Given the description of an element on the screen output the (x, y) to click on. 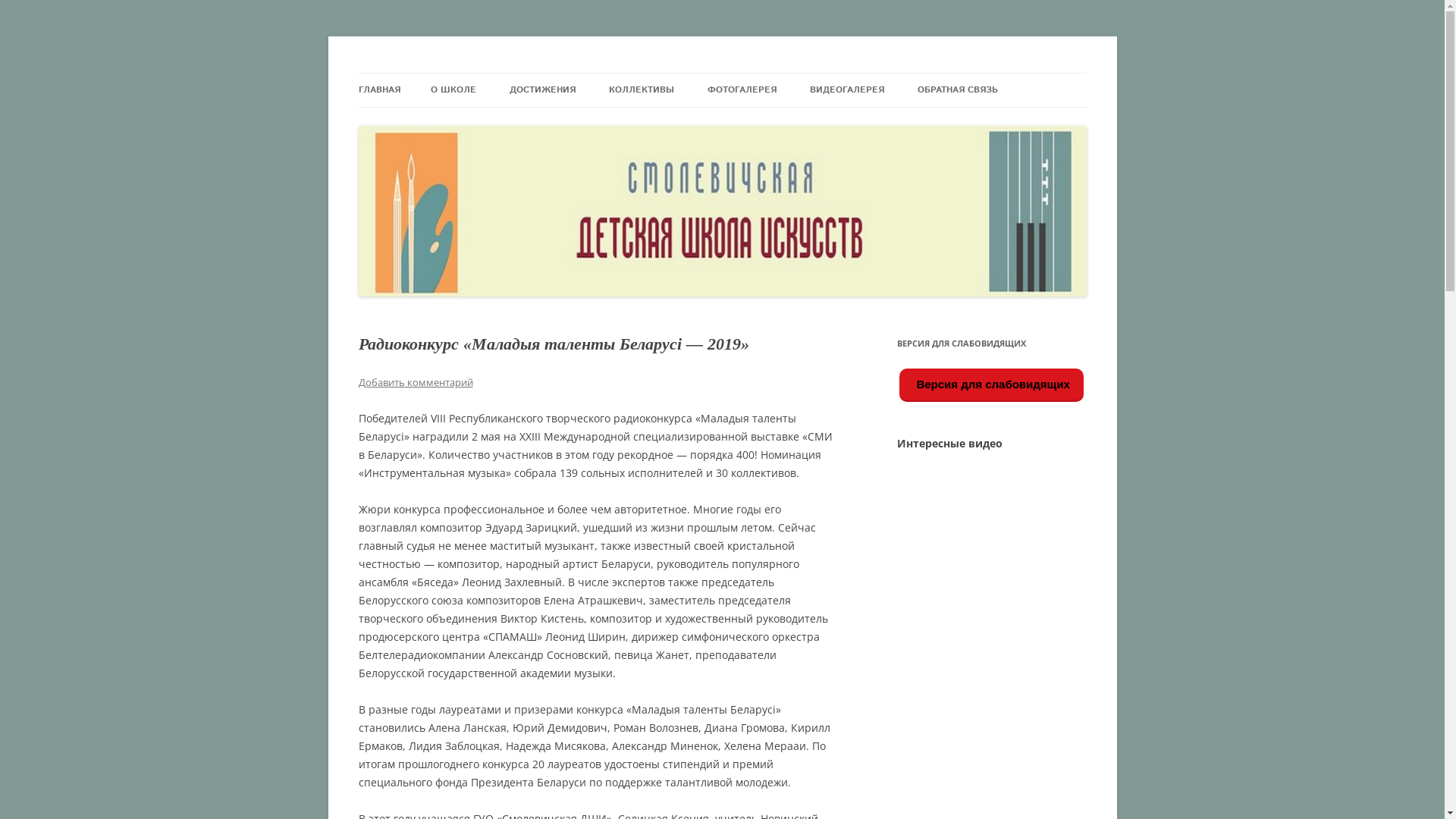
YouTube video player Element type: hover (989, 643)
YouTube video player Element type: hover (989, 537)
